Given the description of an element on the screen output the (x, y) to click on. 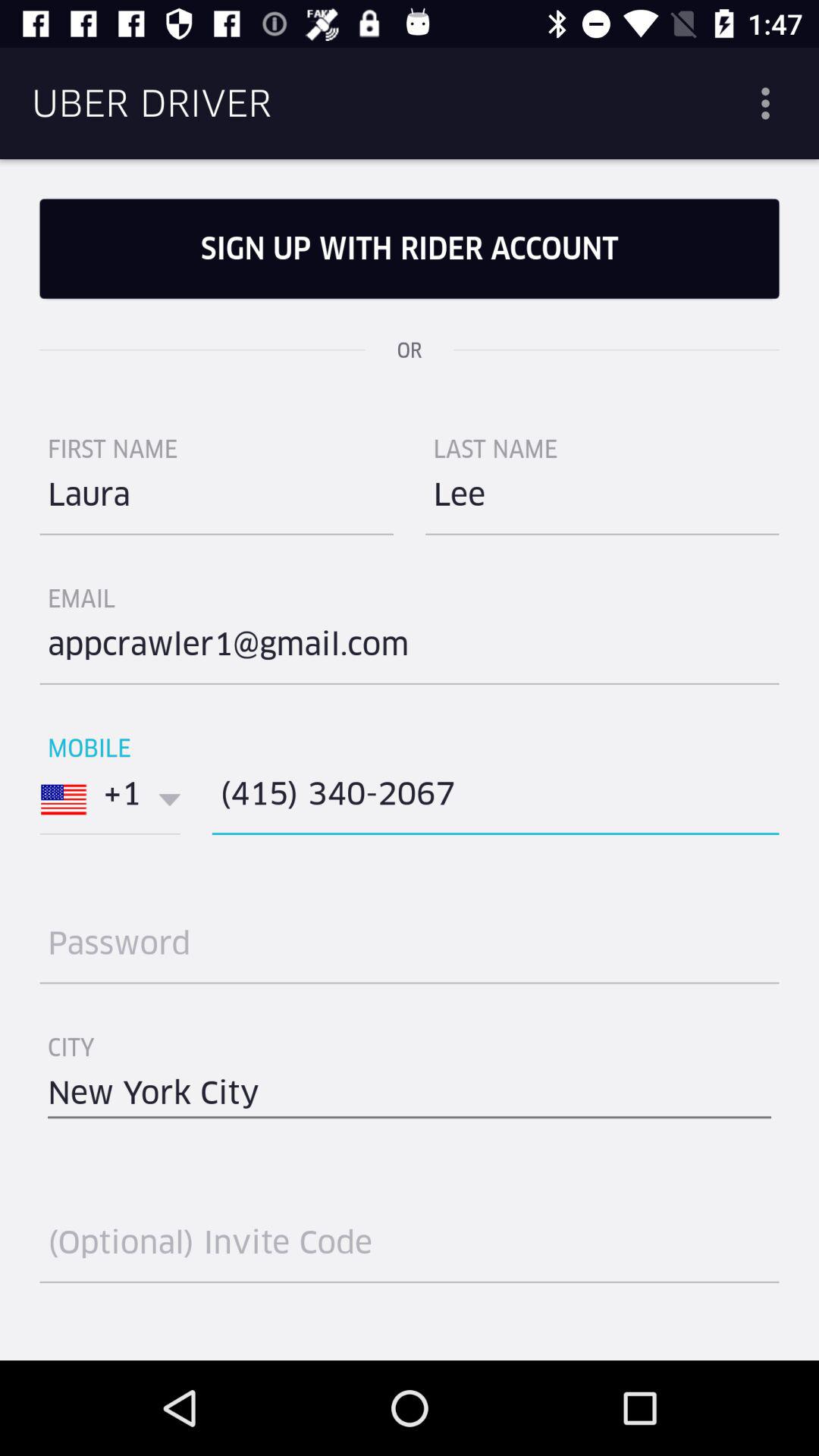
tap the item below last name (602, 500)
